Given the description of an element on the screen output the (x, y) to click on. 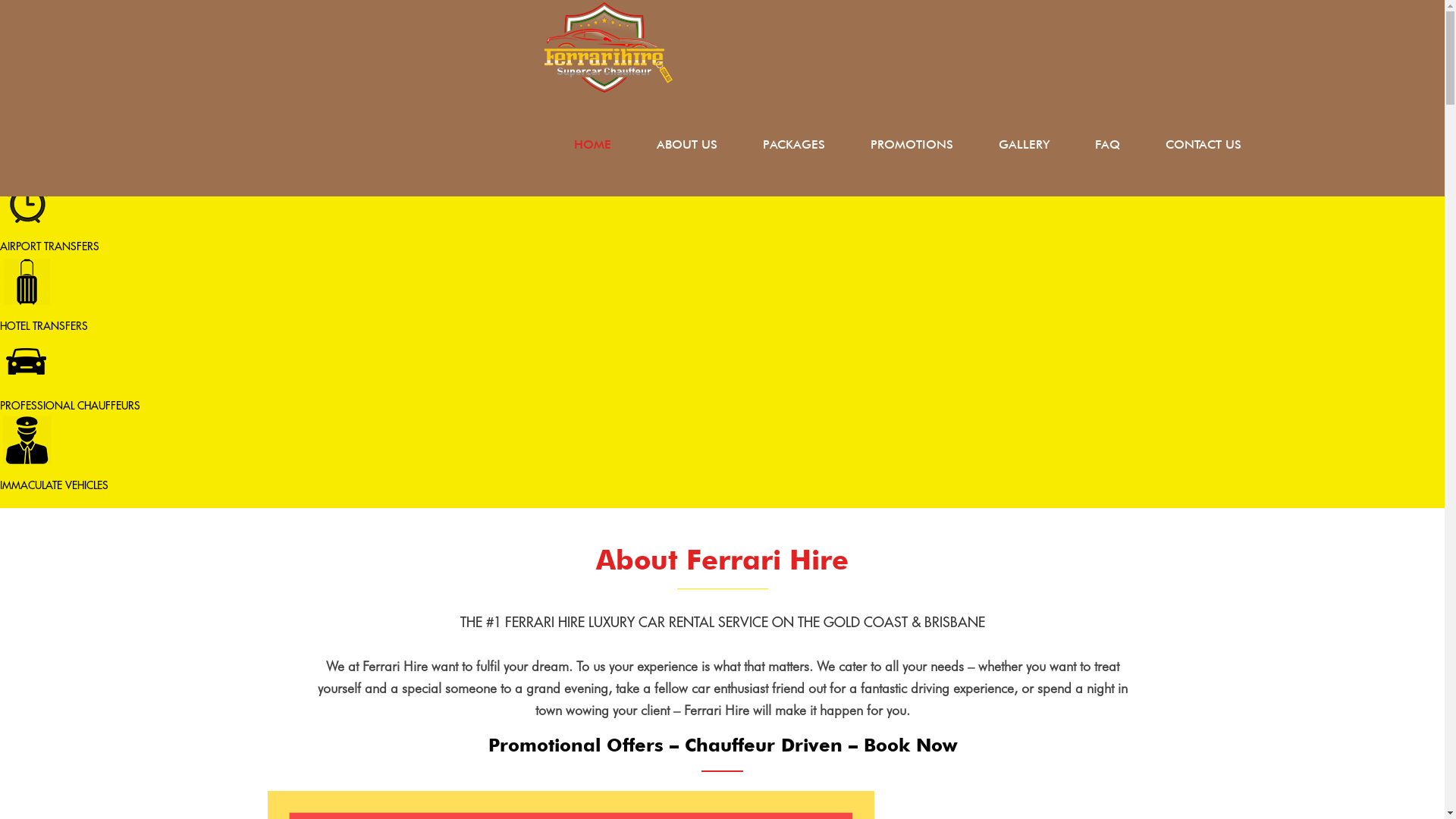
CONTACT US Element type: text (1203, 144)
PACKAGES Element type: text (793, 144)
HOME Element type: text (592, 144)
GALLERY Element type: text (1023, 144)
FAQ Element type: text (1107, 144)
PROMOTIONS Element type: text (911, 144)
ABOUT US Element type: text (686, 144)
